Given the description of an element on the screen output the (x, y) to click on. 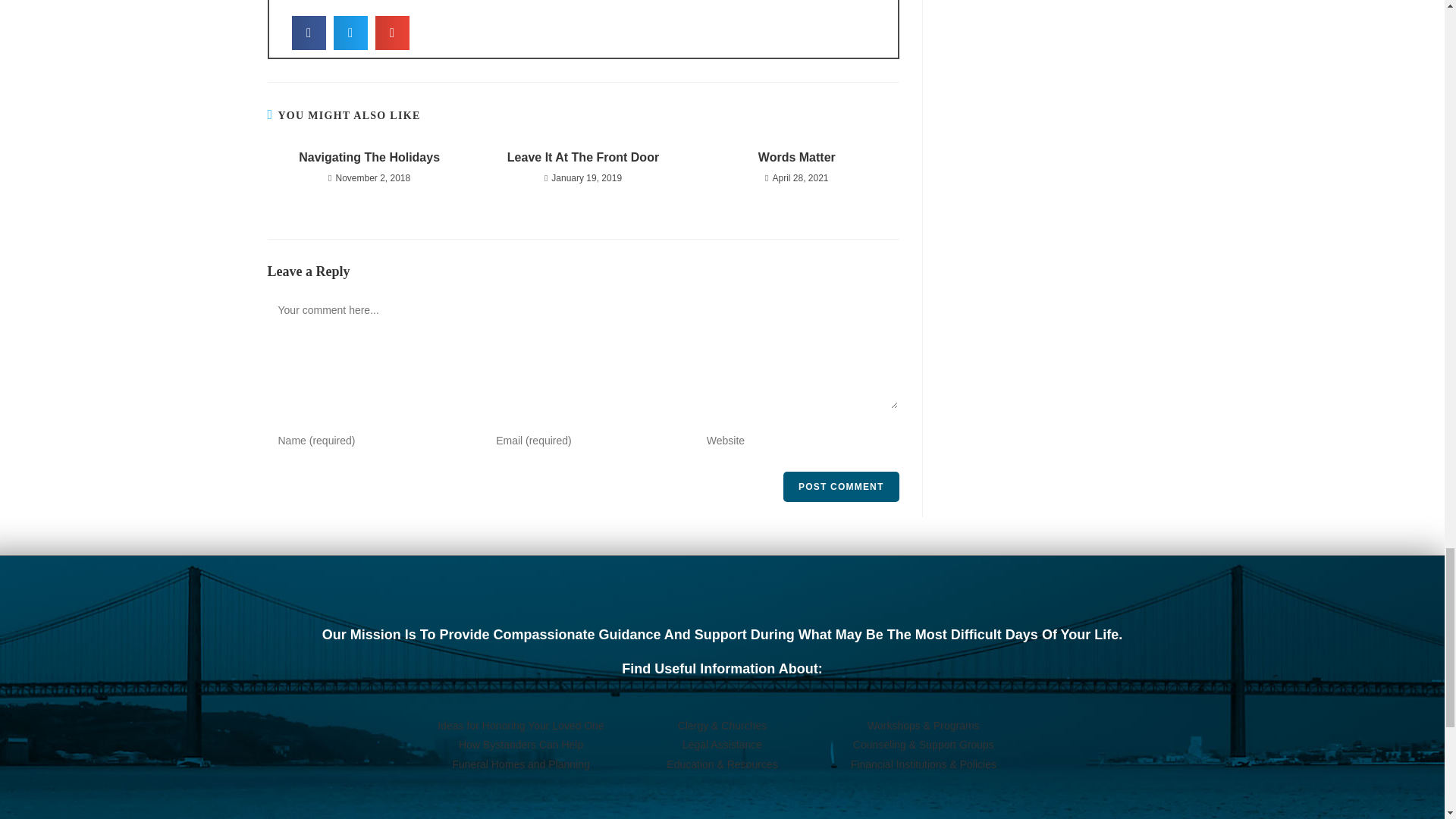
Post Comment (840, 486)
